Given the description of an element on the screen output the (x, y) to click on. 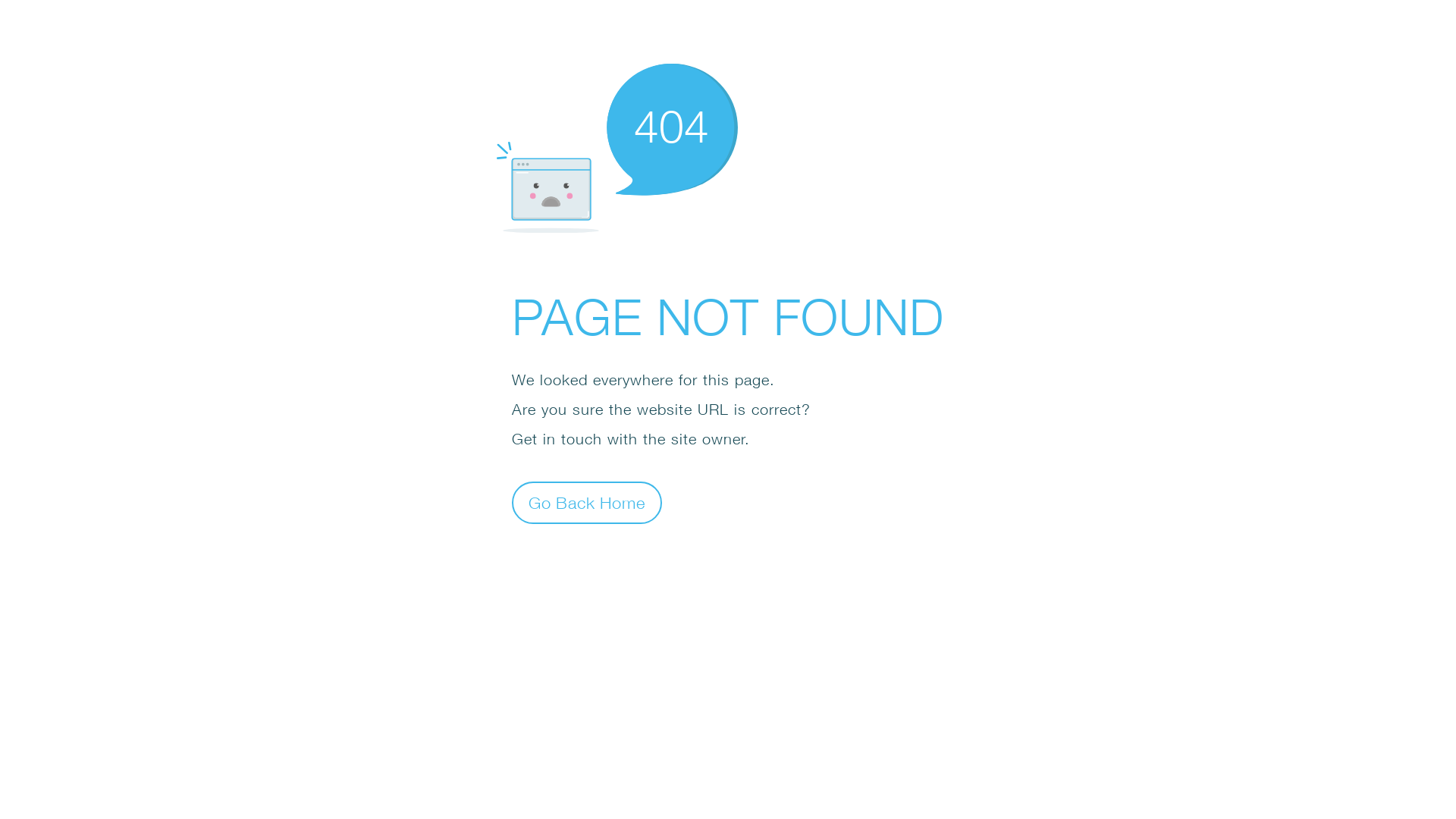
Go Back Home Element type: text (586, 502)
